Given the description of an element on the screen output the (x, y) to click on. 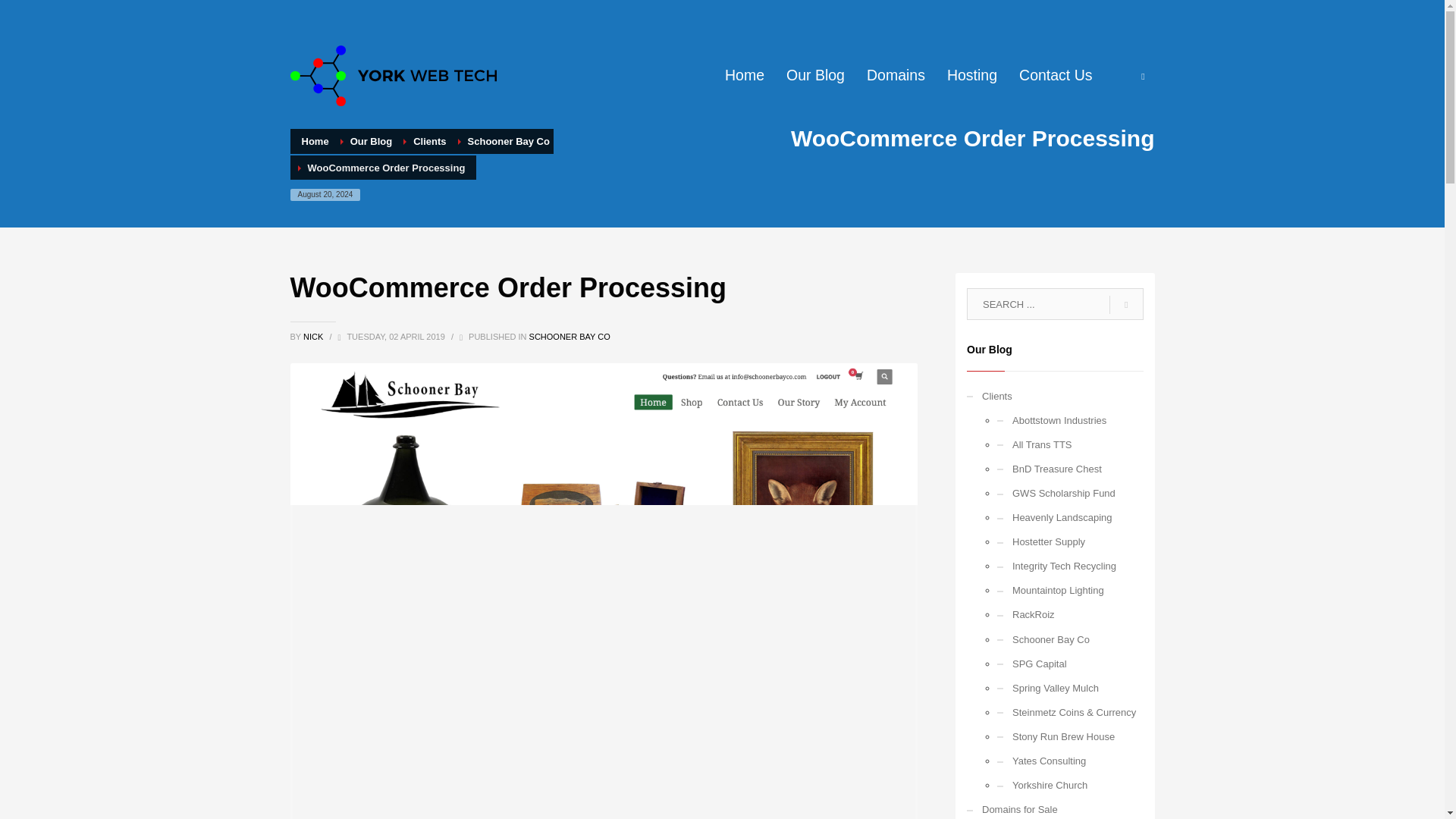
Abottstown Industries (1069, 420)
go (1125, 305)
Schooner Bay Co (508, 141)
Home (744, 75)
SCHOONER BAY CO (569, 336)
Home (315, 141)
Our Blog (371, 141)
Clients (1054, 396)
Our Blog (815, 75)
